Given the description of an element on the screen output the (x, y) to click on. 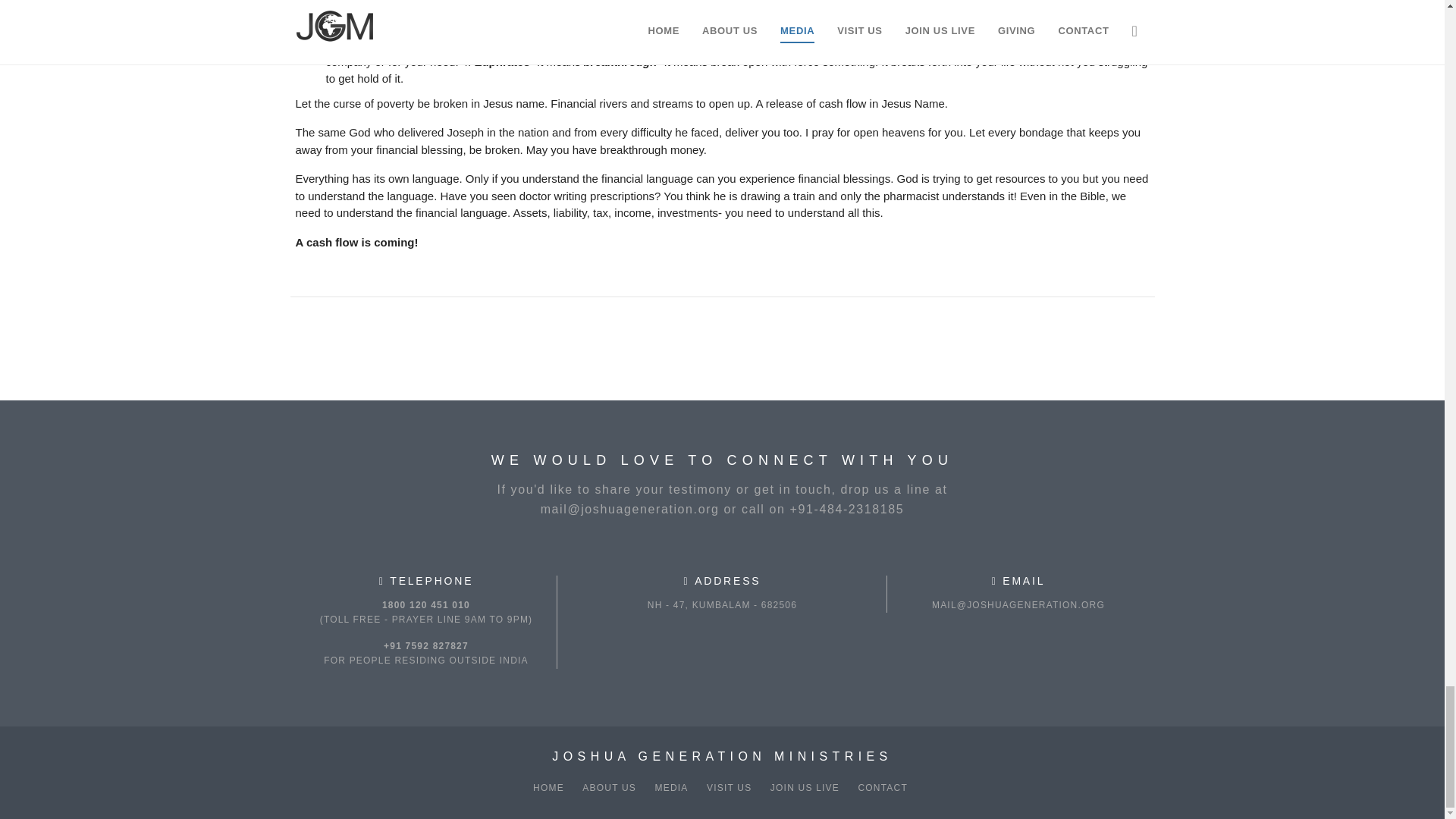
ABOUT US (609, 787)
CONTACT (882, 787)
JOIN US LIVE (805, 787)
MEDIA (671, 787)
VISIT US (729, 787)
HOME (548, 787)
